Given the description of an element on the screen output the (x, y) to click on. 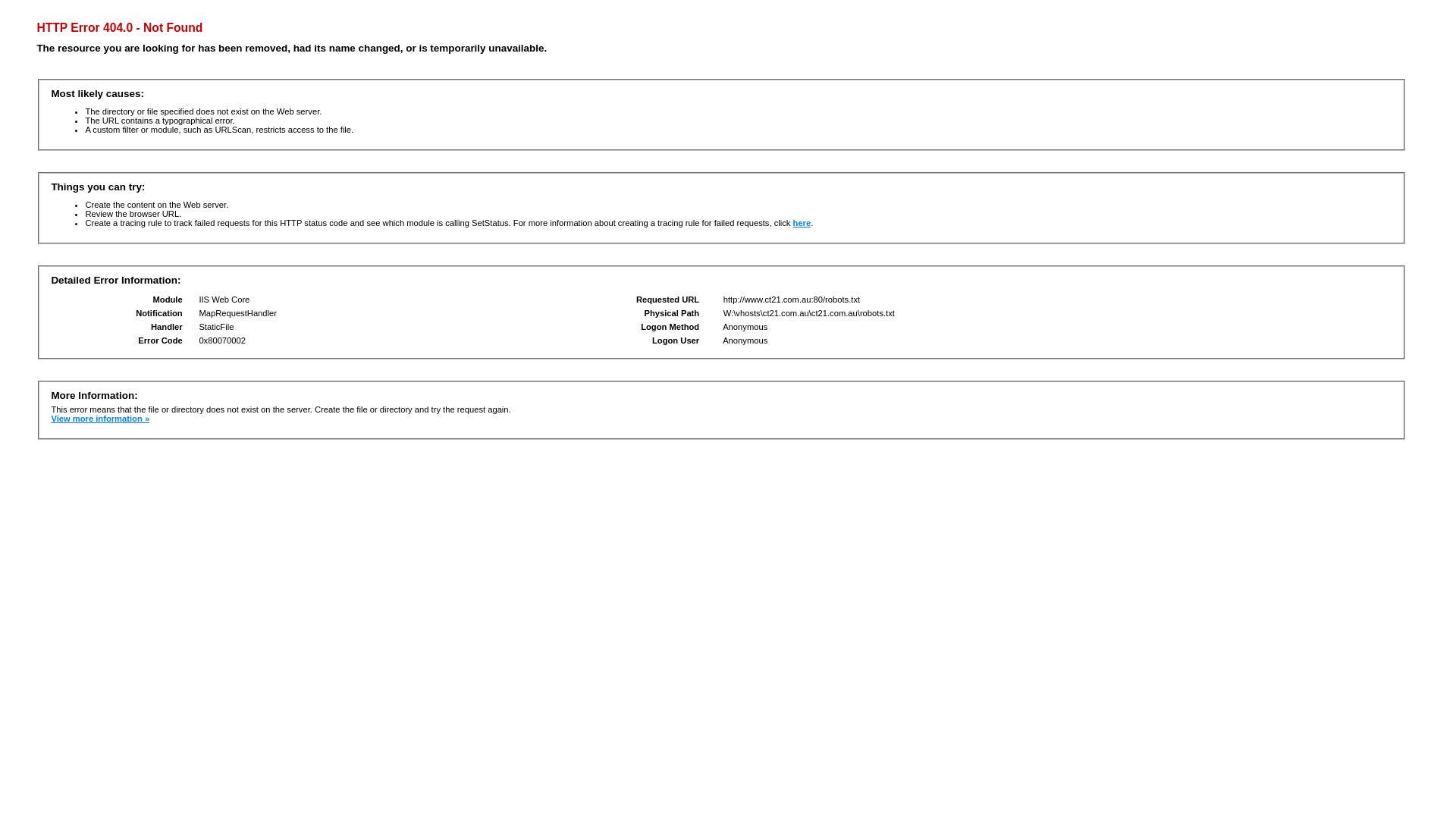
here Element type: text (802, 222)
